Given the description of an element on the screen output the (x, y) to click on. 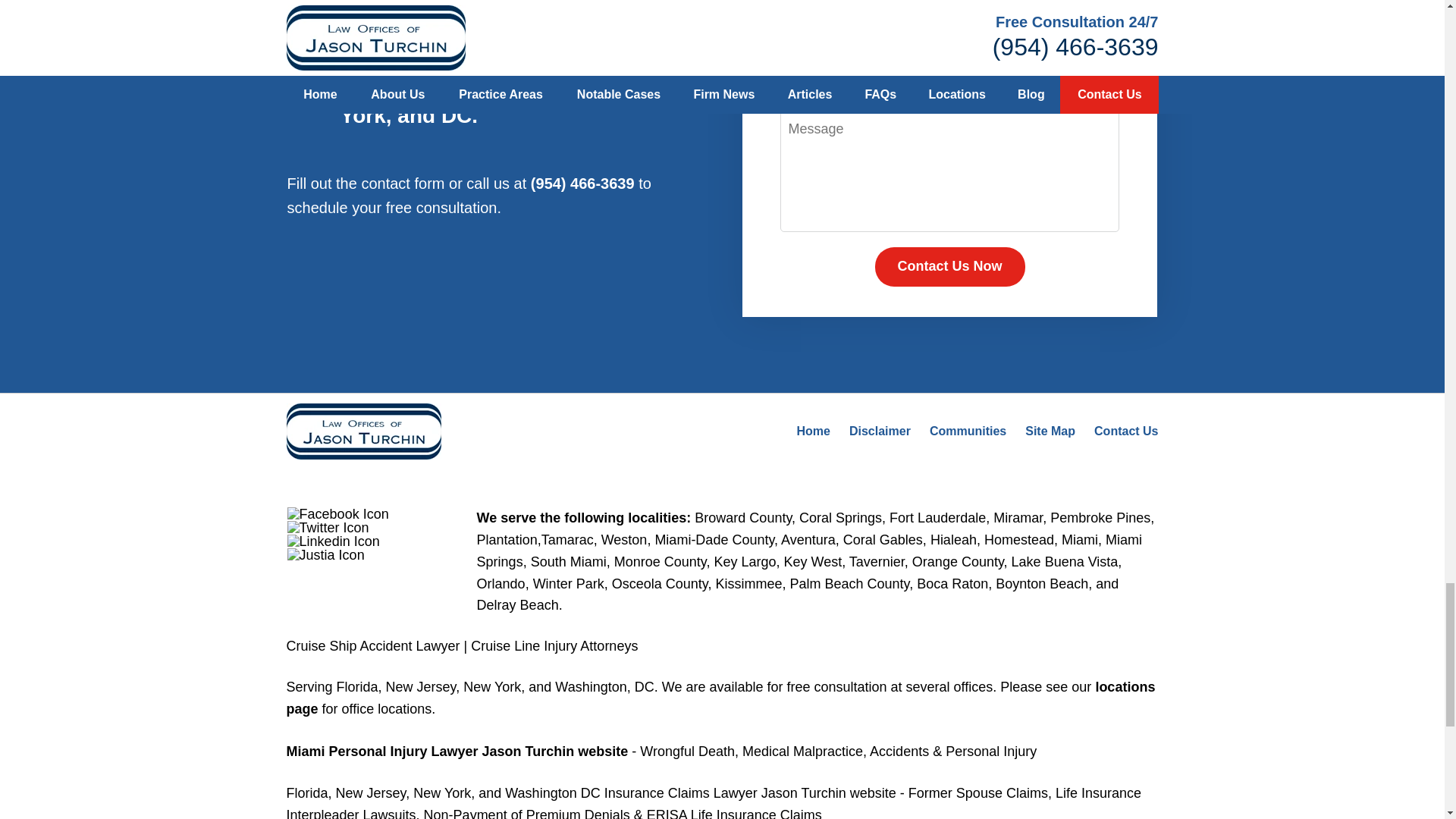
Justia (325, 554)
Twitter (327, 527)
Facebook (337, 513)
Linkedin (333, 540)
